Given the description of an element on the screen output the (x, y) to click on. 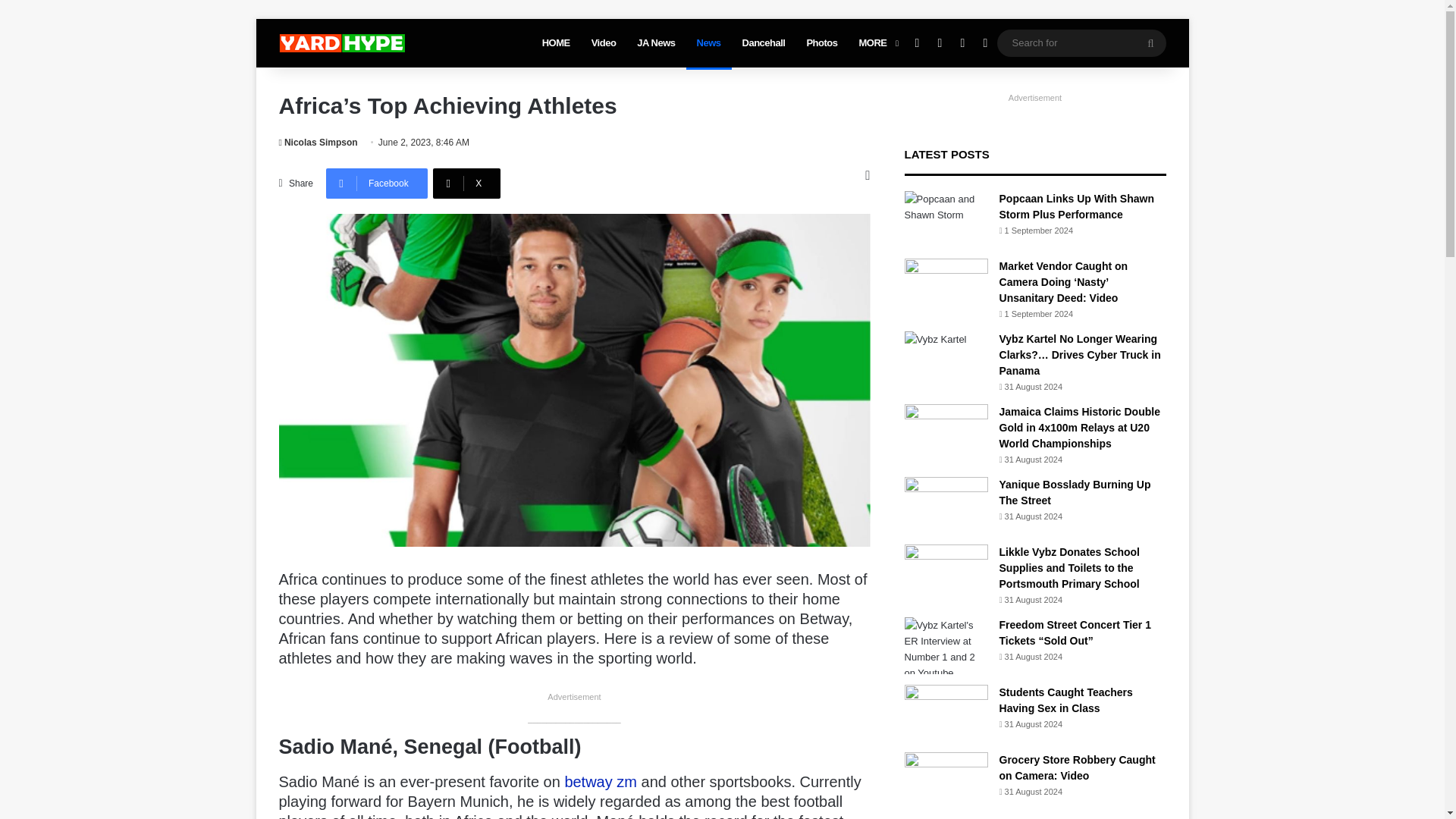
Nicolas Simpson (318, 142)
Dancehall (764, 42)
Search for (1150, 42)
X (466, 183)
betway zm (600, 781)
JA News (655, 42)
Facebook (377, 183)
News (708, 42)
MORE (876, 42)
Search for (1080, 42)
